Given the description of an element on the screen output the (x, y) to click on. 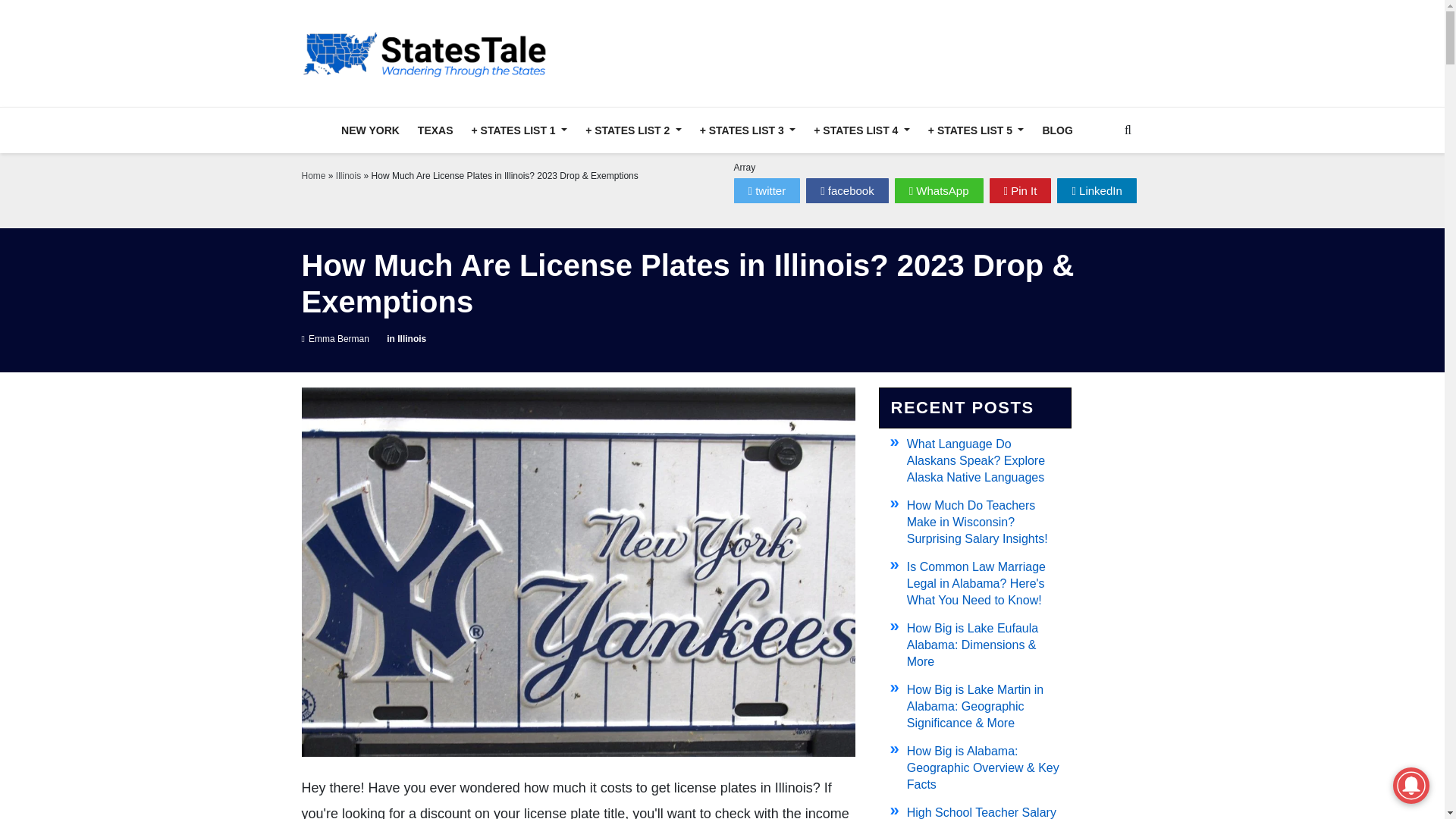
TEXAS (436, 130)
States Tale (427, 53)
NEW YORK (370, 130)
